Given the description of an element on the screen output the (x, y) to click on. 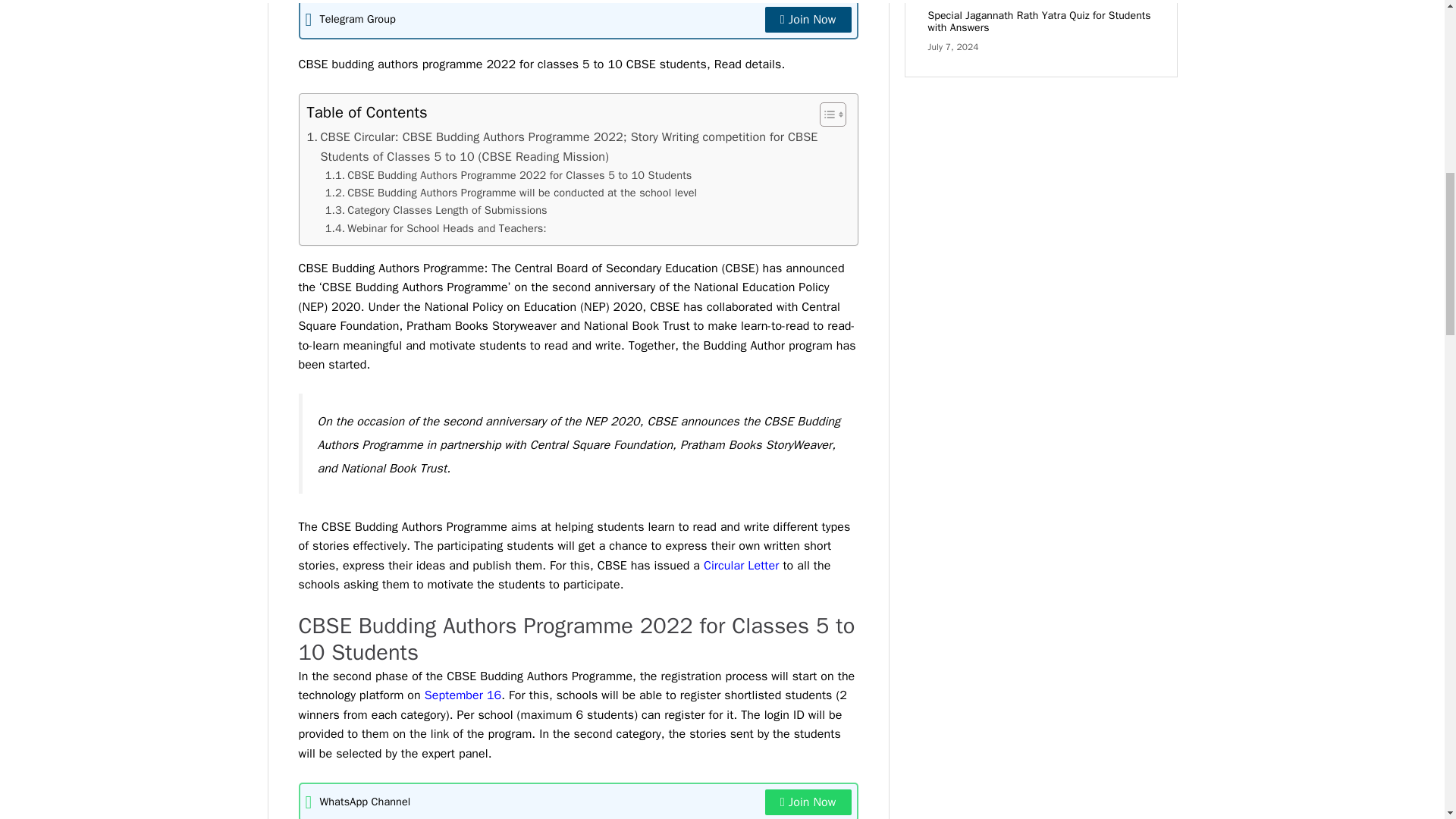
Webinar for School Heads and Teachers: (435, 228)
Category Classes Length of Submissions (435, 210)
